Given the description of an element on the screen output the (x, y) to click on. 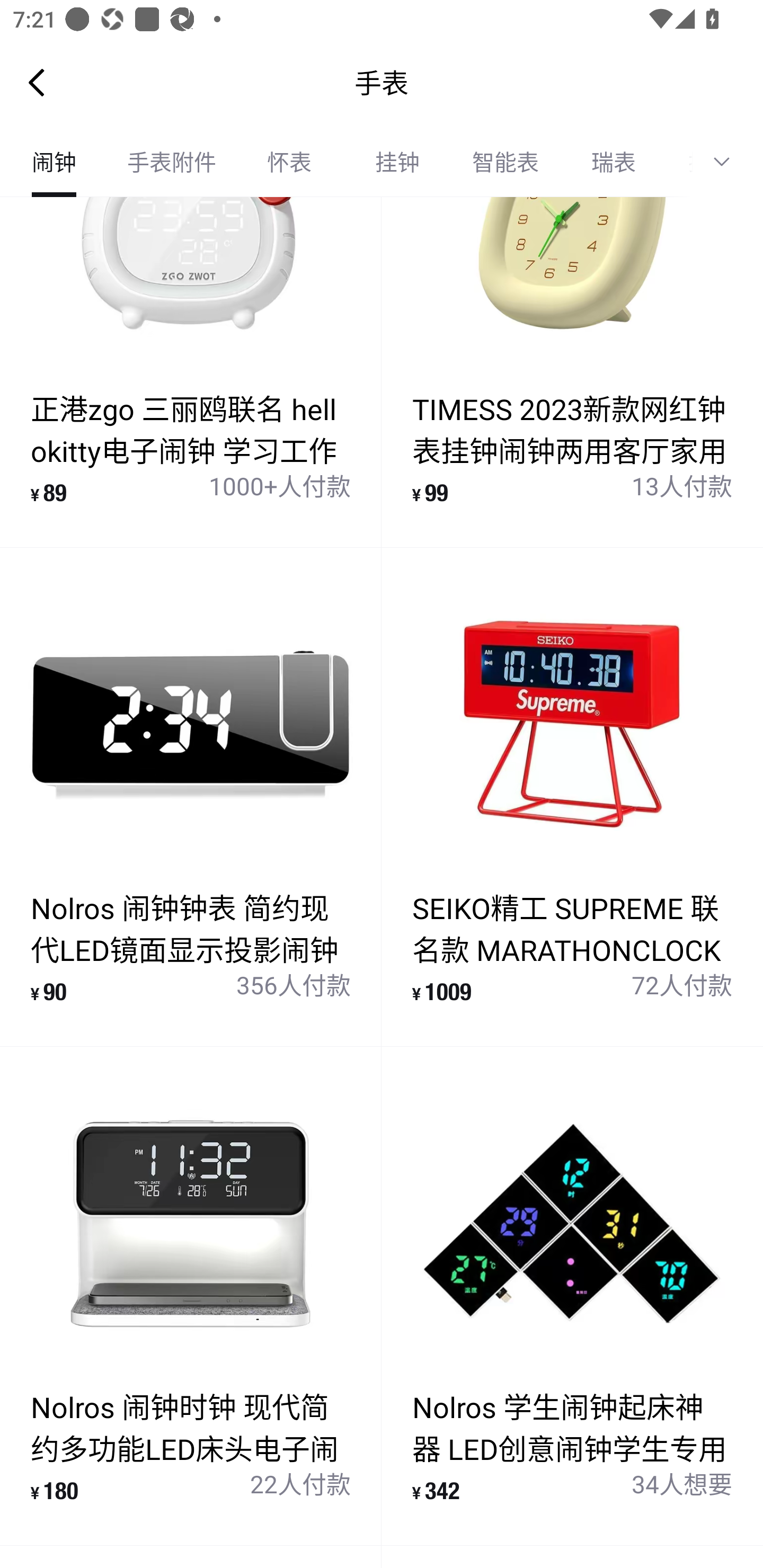
Navigate up (36, 82)
闹钟 (54, 162)
手表附件 (171, 162)
怀表 (289, 162)
挂钟 (397, 162)
智能表 (505, 162)
瑞表 (613, 162)
 (727, 162)
